Given the description of an element on the screen output the (x, y) to click on. 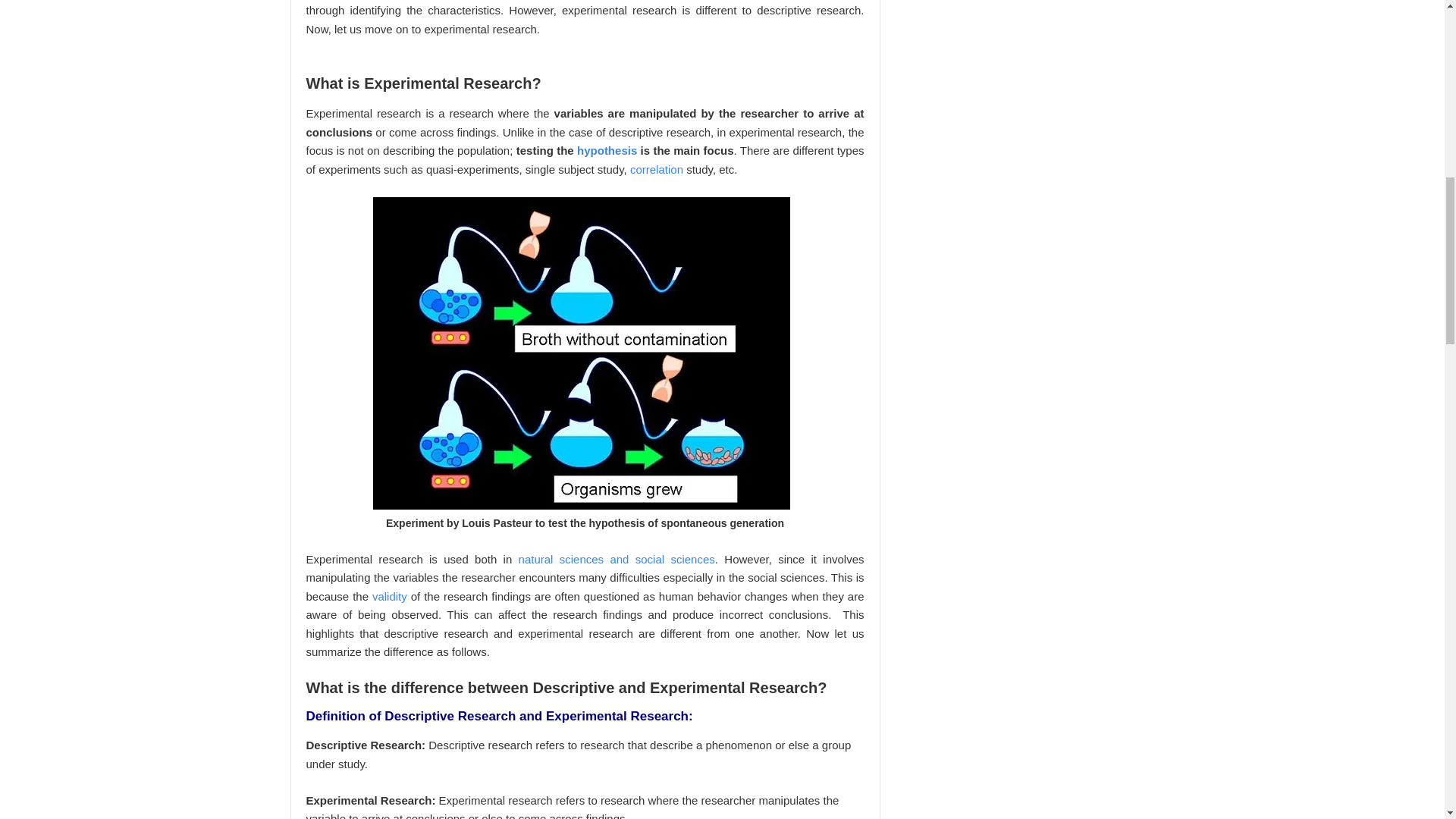
Difference Between Hypothesis and Assumption (606, 150)
Difference Between Descriptive and Experimental Research 2 (581, 353)
correlation (656, 168)
natural sciences and social sciences (616, 558)
Difference Between Causation and Correlation (656, 168)
hypothesis (606, 150)
Difference Between Reliability and Validity (389, 595)
validity (389, 595)
Difference Between Social Science and Natural Science (616, 558)
